Given the description of an element on the screen output the (x, y) to click on. 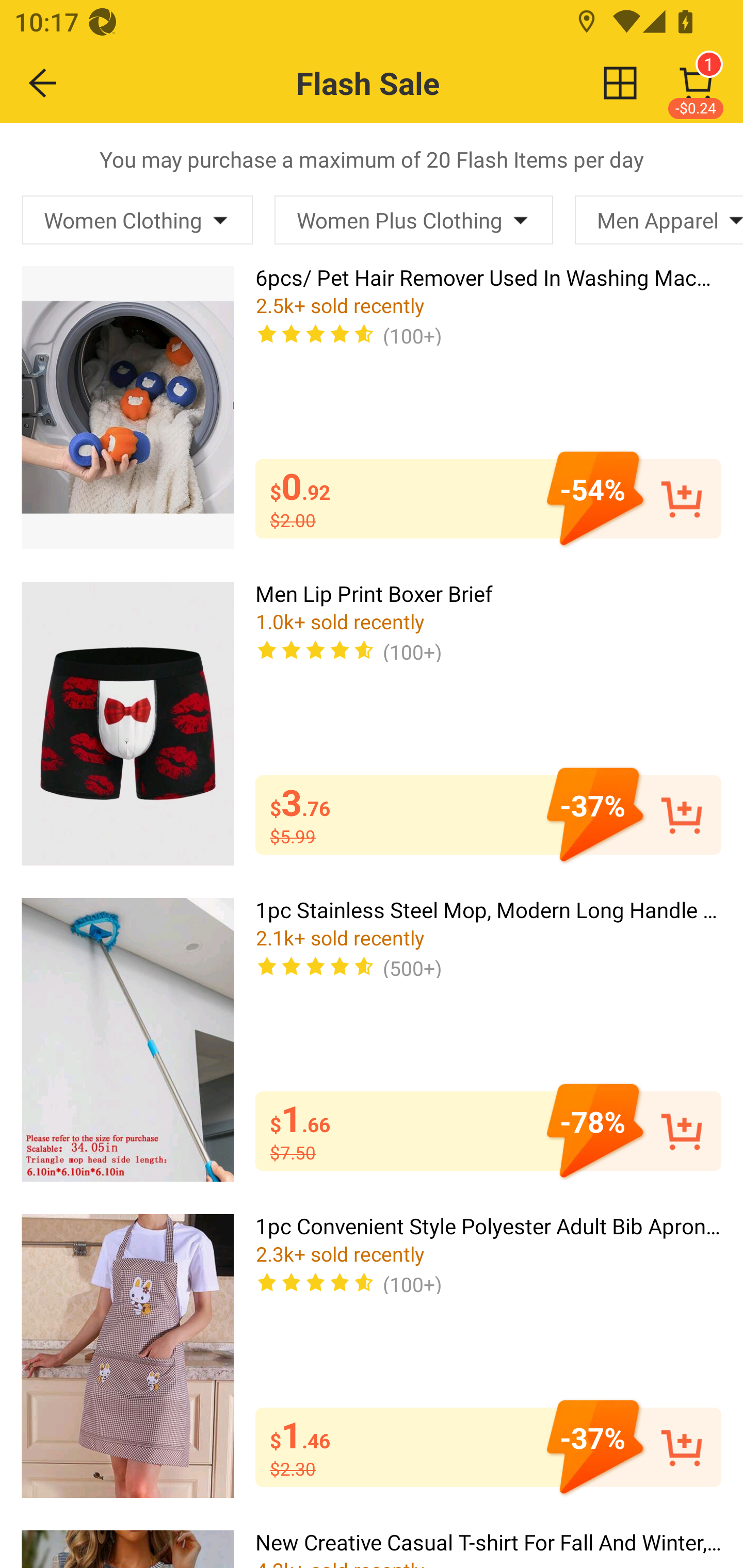
Flash Sale change view 1 -$0.24 (414, 82)
1 -$0.24 (695, 82)
change view (620, 82)
BACK (43, 83)
Women Clothing (136, 220)
Women Plus Clothing (413, 220)
Men Apparel (659, 220)
Men Lip Print Boxer Brief (127, 723)
